Given the description of an element on the screen output the (x, y) to click on. 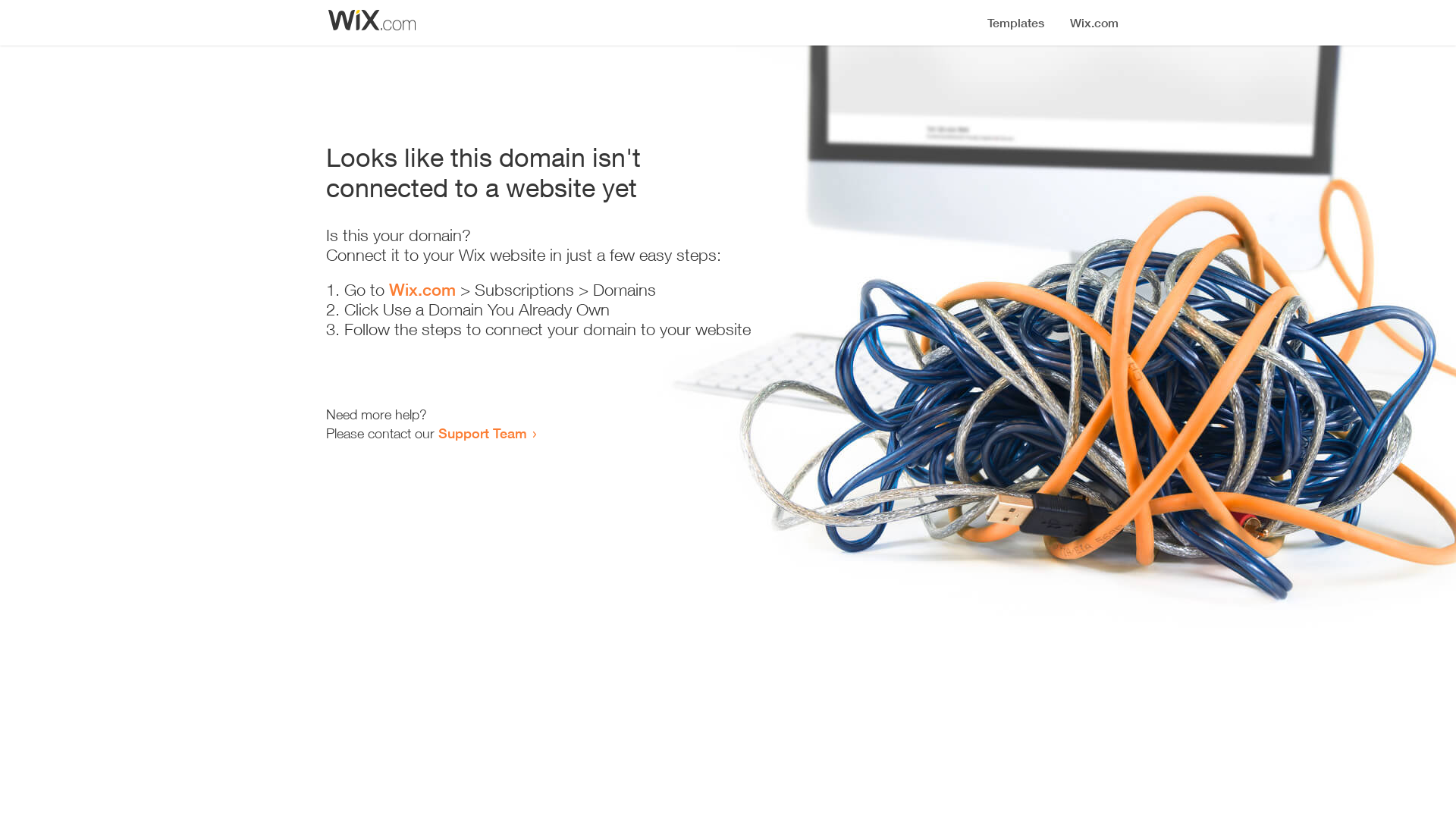
Support Team Element type: text (482, 432)
Wix.com Element type: text (422, 289)
